Given the description of an element on the screen output the (x, y) to click on. 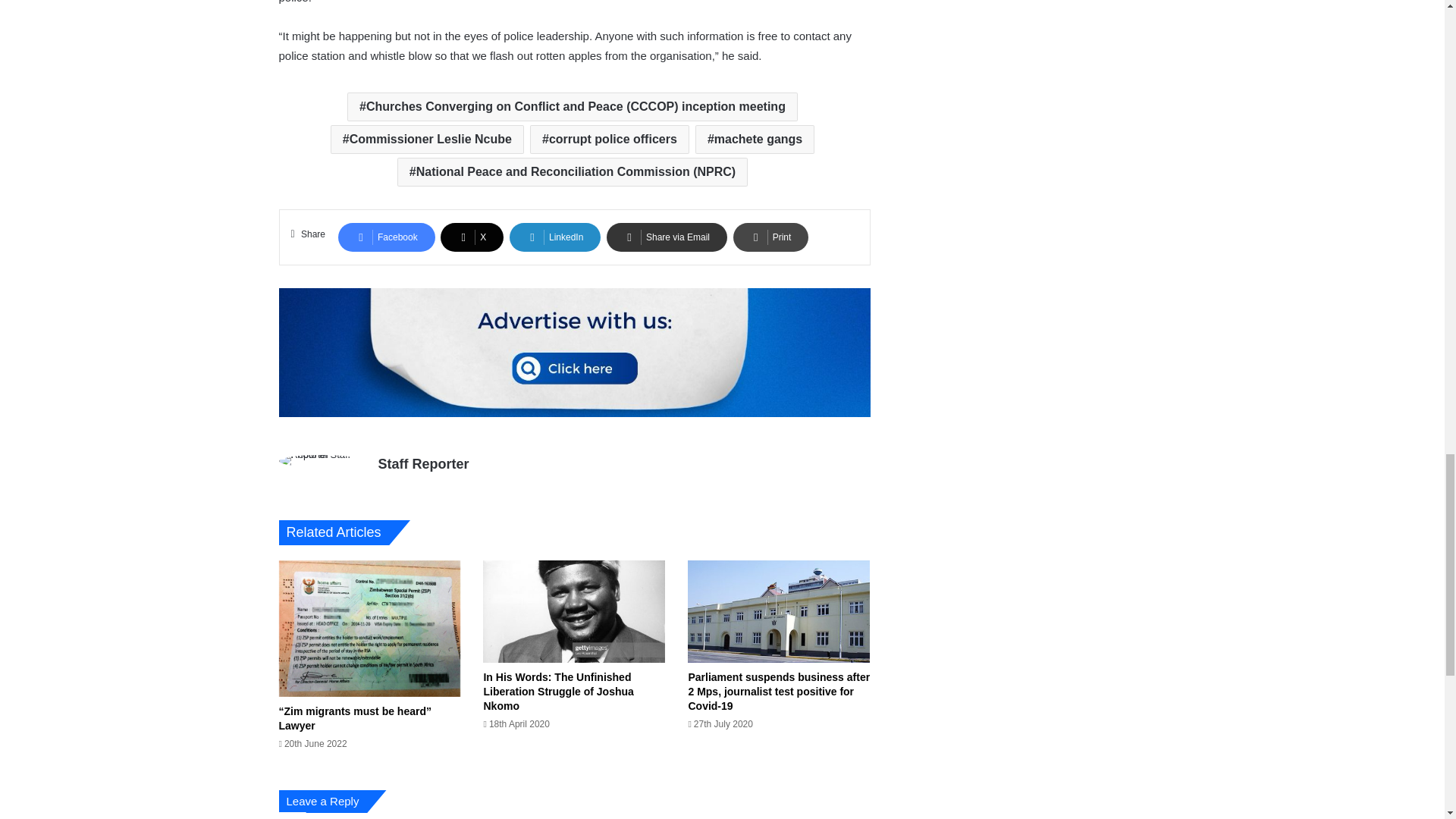
LinkedIn (554, 236)
Commissioner Leslie Ncube (427, 139)
Facebook (386, 236)
X (472, 236)
corrupt police officers (608, 139)
